Given the description of an element on the screen output the (x, y) to click on. 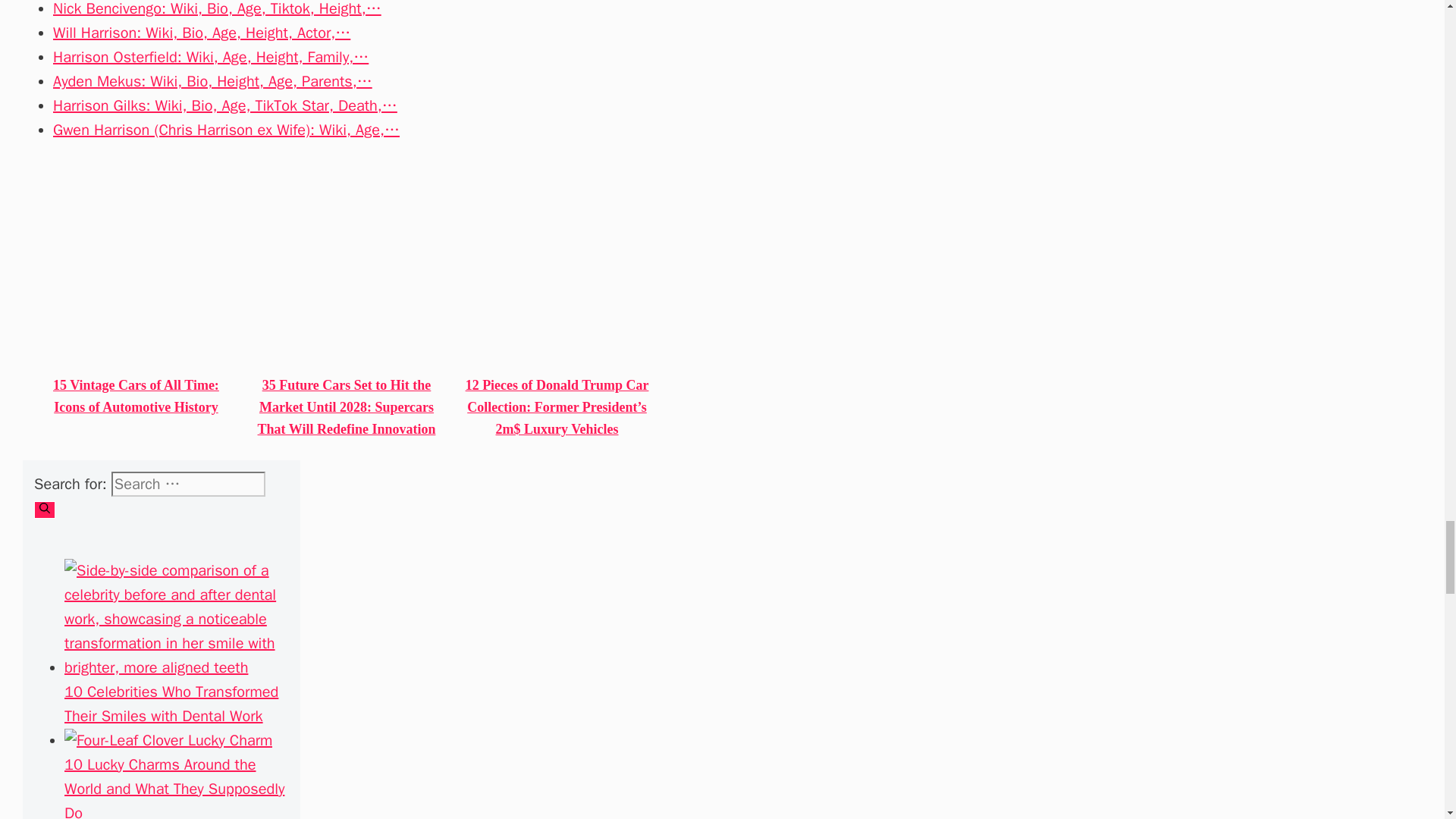
15 Vintage Cars of All Time: Icons of Automotive History (135, 395)
Search for: (188, 483)
